Given the description of an element on the screen output the (x, y) to click on. 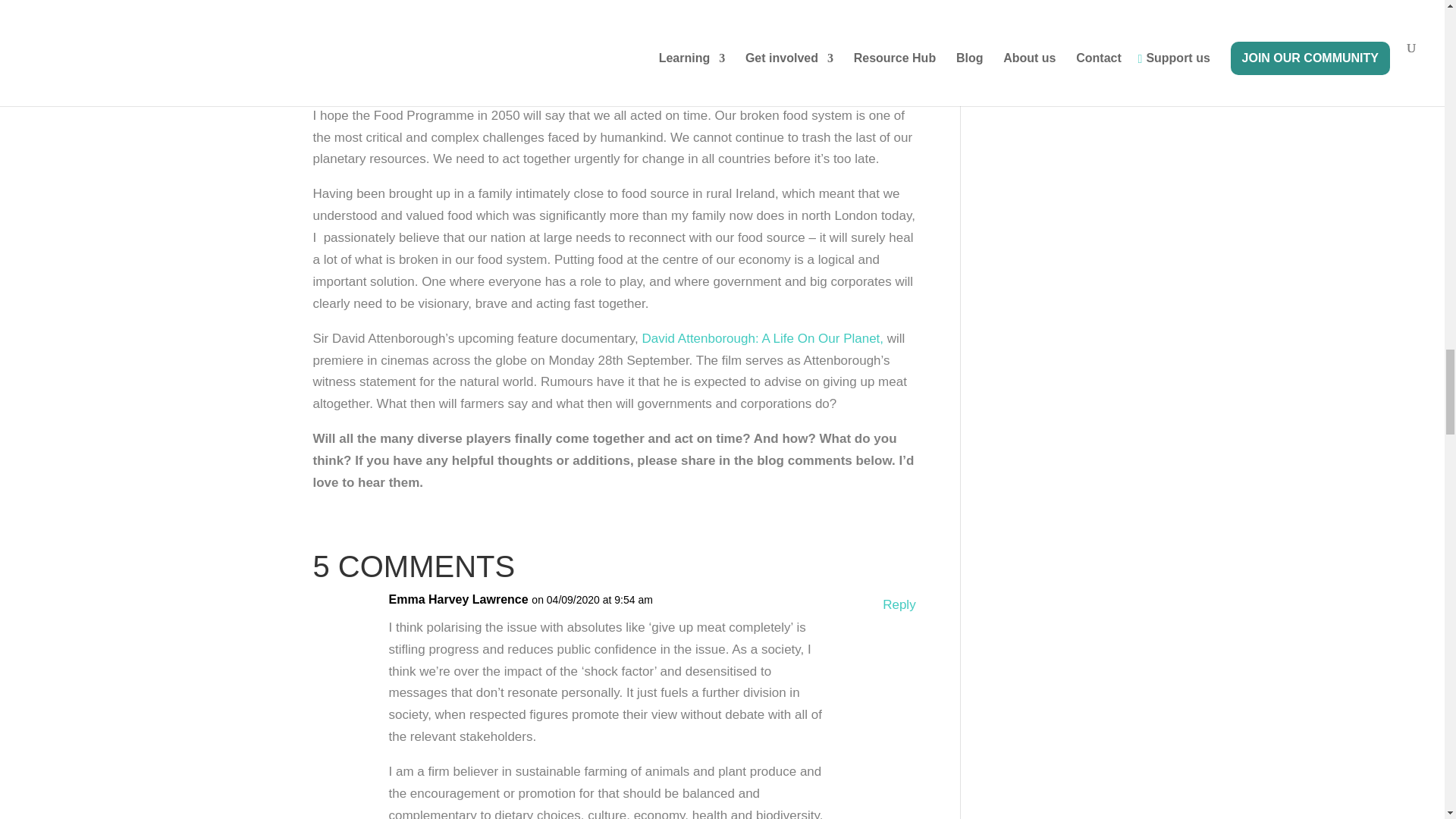
David Attenborough: A Life On Our Planet, (762, 338)
Reply (898, 605)
